Given the description of an element on the screen output the (x, y) to click on. 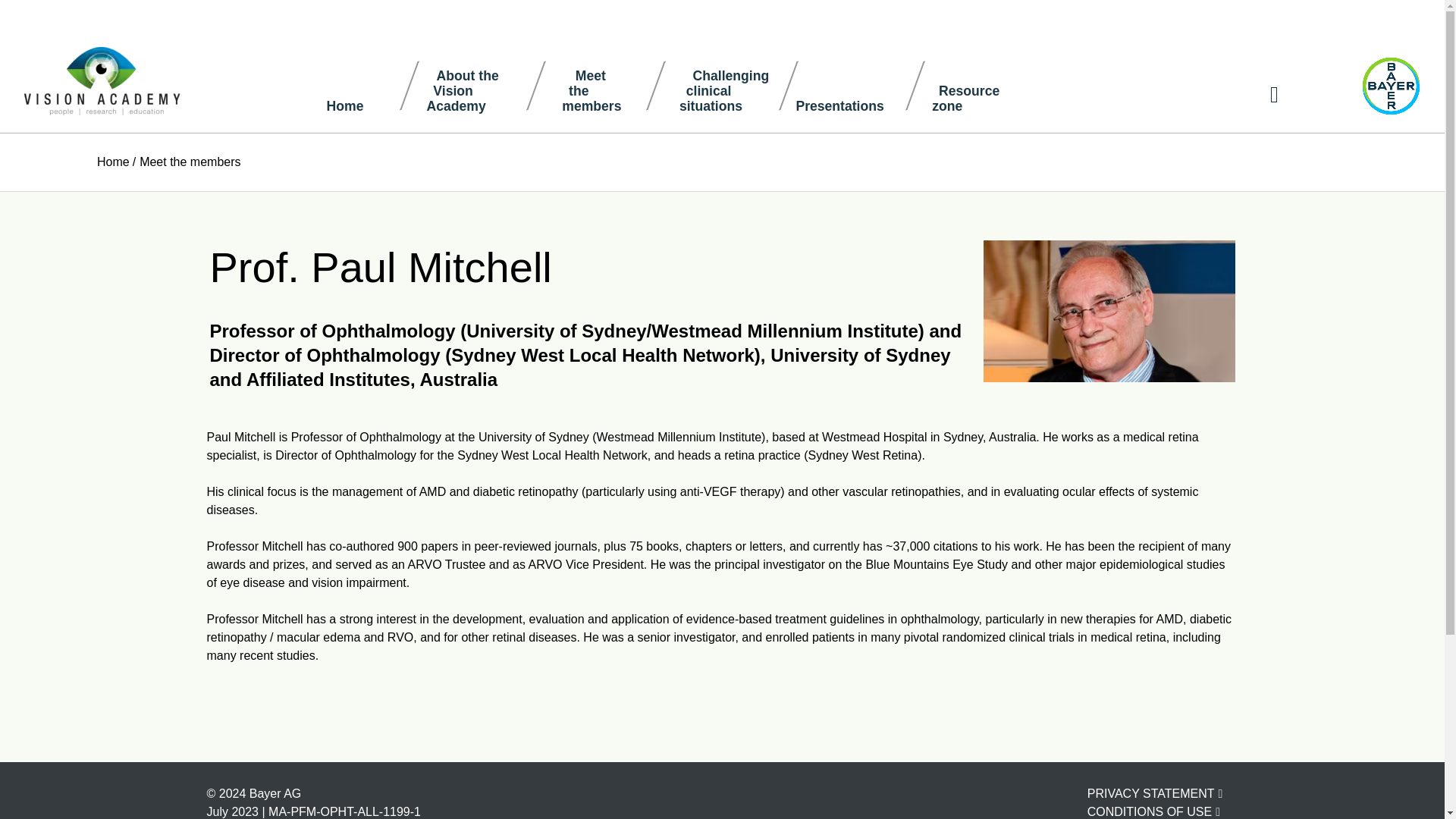
Toggle search input (477, 84)
Home (1273, 94)
Presentations (351, 84)
Meet the members (983, 84)
Home (856, 84)
CONDITIONS OF USE (189, 162)
Title (113, 162)
Skip to main content (1153, 811)
PRIVACY STATEMENT (1108, 311)
